Given the description of an element on the screen output the (x, y) to click on. 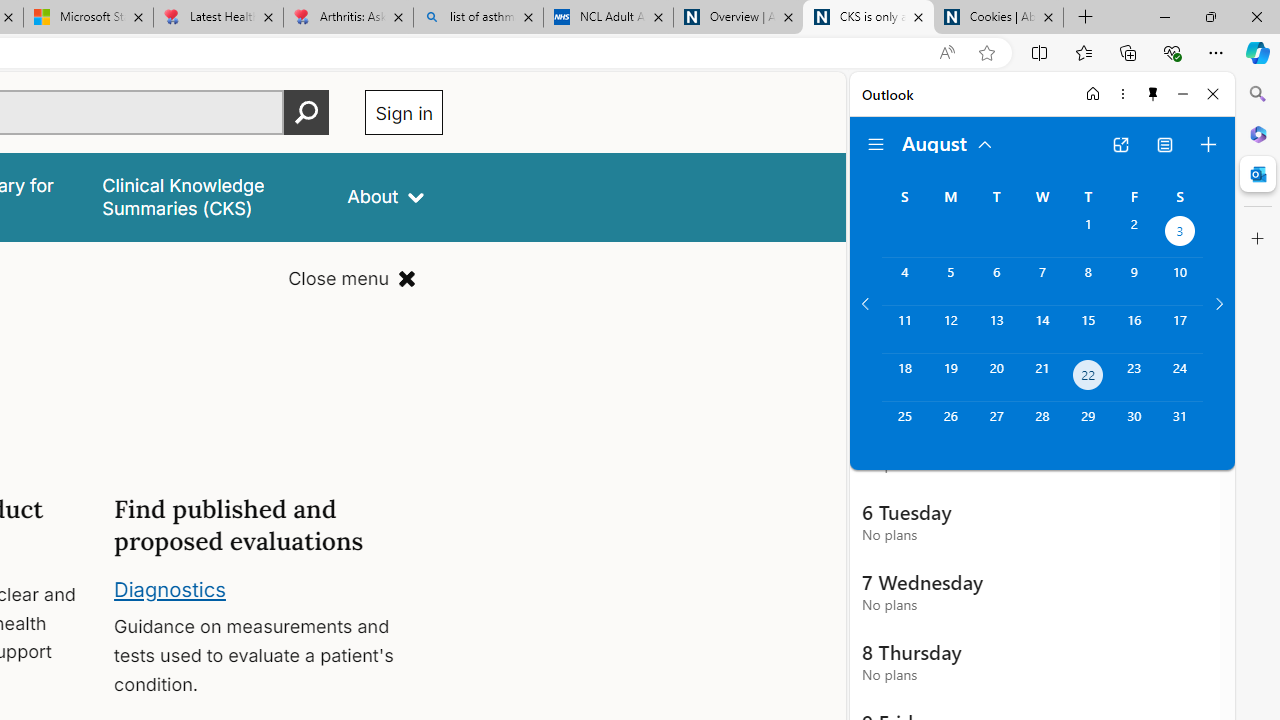
Thursday, August 15, 2024.  (1088, 329)
Tuesday, August 27, 2024.  (996, 425)
Create event (1208, 144)
Friday, August 9, 2024.  (1134, 281)
View Switcher. Current view is Agenda view (1165, 144)
Sunday, August 25, 2024.  (904, 425)
Unpin side pane (1153, 93)
Arthritis: Ask Health Professionals (348, 17)
More options (1122, 93)
Saturday, August 3, 2024. Date selected.  (1180, 233)
